Given the description of an element on the screen output the (x, y) to click on. 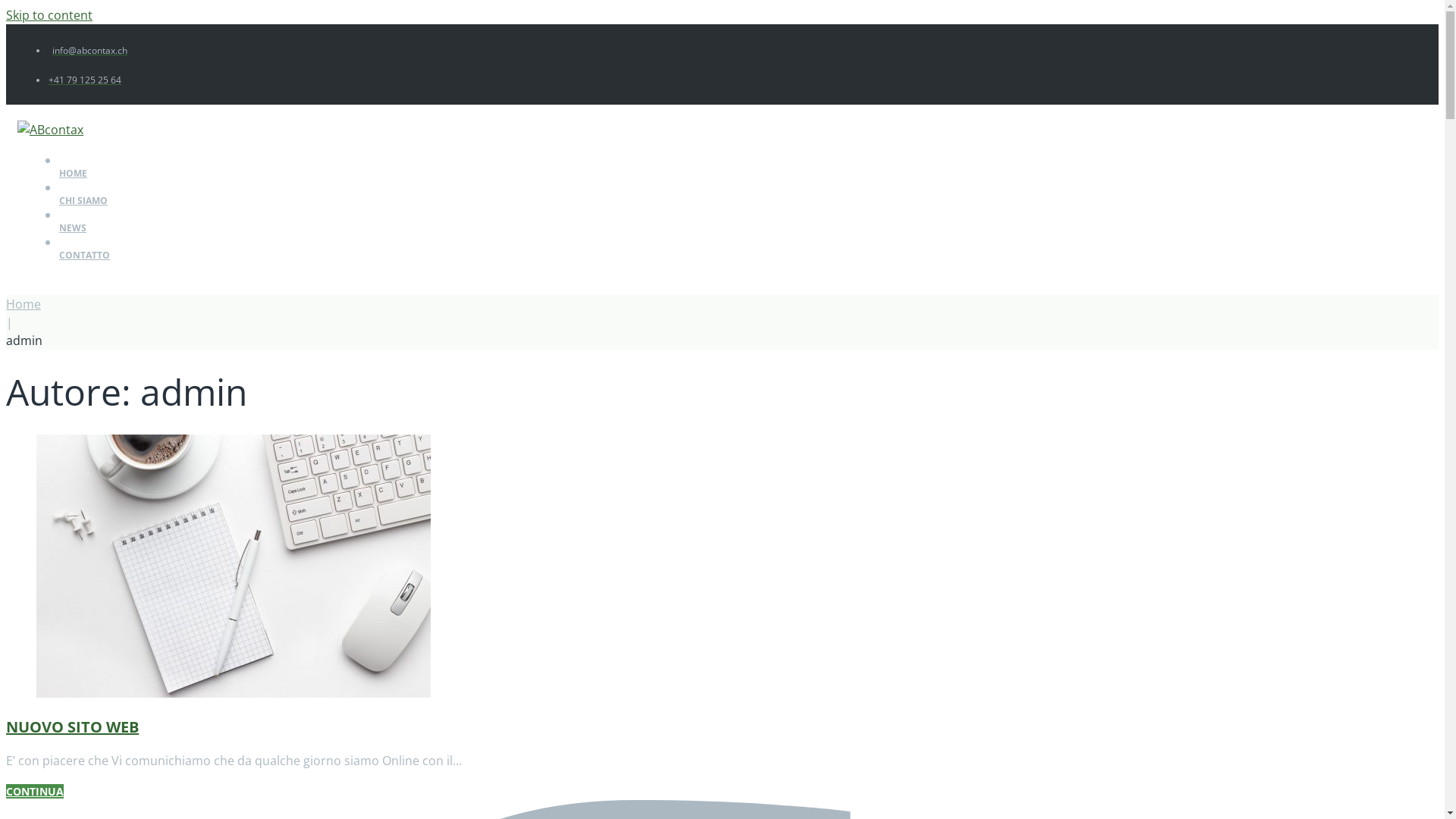
+41 79 125 25 64 Element type: text (84, 79)
NUOVO SITO WEB Element type: text (72, 726)
Skip to content Element type: text (49, 14)
Home Element type: text (23, 303)
CHI SIAMO Element type: text (393, 207)
CONTINUA Element type: text (34, 791)
CONTATTO Element type: text (393, 262)
info@abcontax.ch Element type: text (87, 49)
HOME Element type: text (393, 180)
NEWS Element type: text (393, 235)
